Given the description of an element on the screen output the (x, y) to click on. 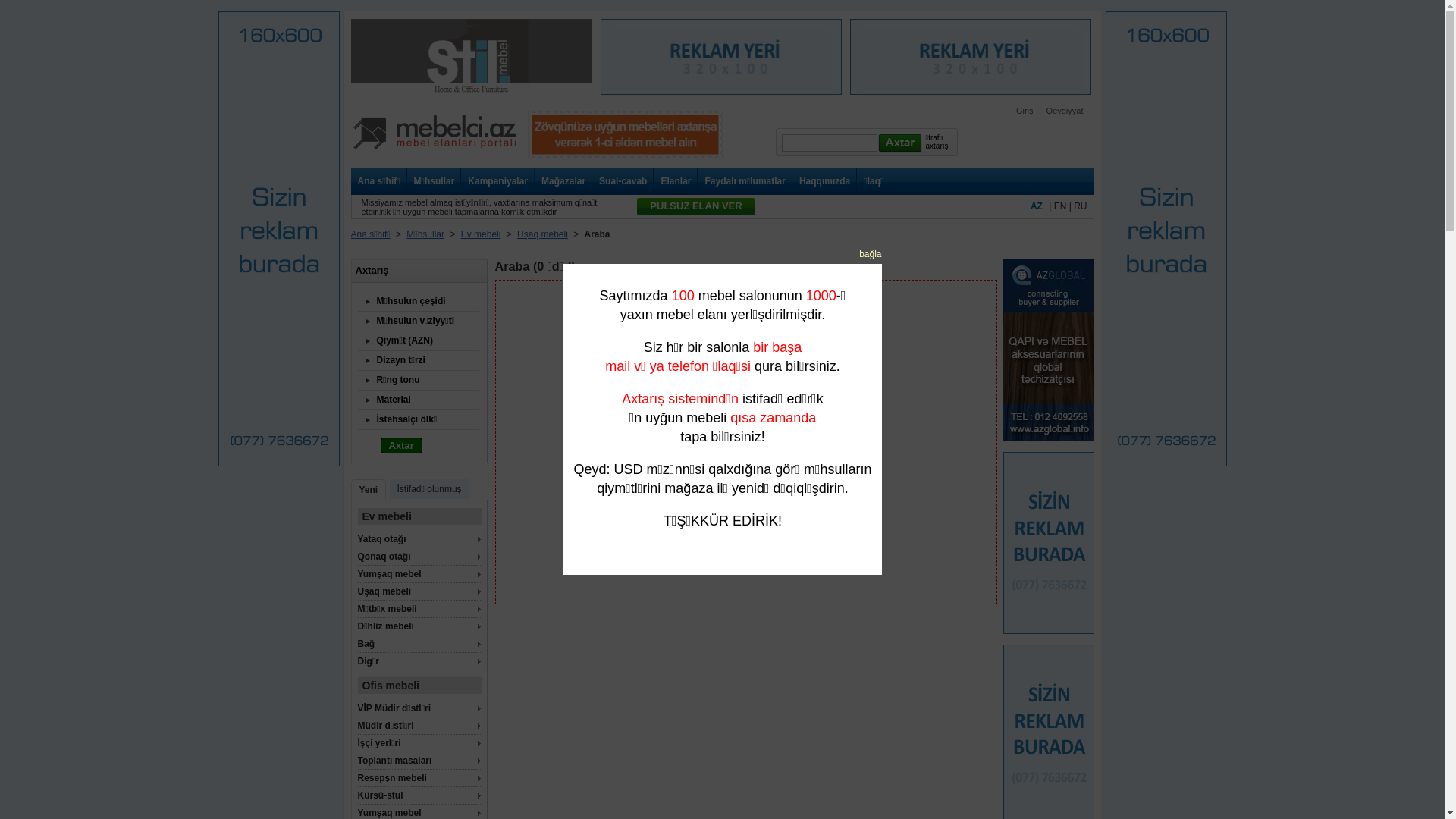
AZ Element type: text (1036, 205)
Kampaniyalar Element type: text (494, 180)
Ev mebeli Element type: text (481, 234)
Qeydiyyat Element type: text (1064, 110)
Yeni Element type: text (367, 489)
Elanlar Element type: text (671, 180)
PULSUZ ELAN VER Element type: text (696, 206)
Mebel kataloqu Element type: hover (433, 155)
Sual-cavab Element type: text (619, 180)
Axtar Element type: text (401, 445)
